Given the description of an element on the screen output the (x, y) to click on. 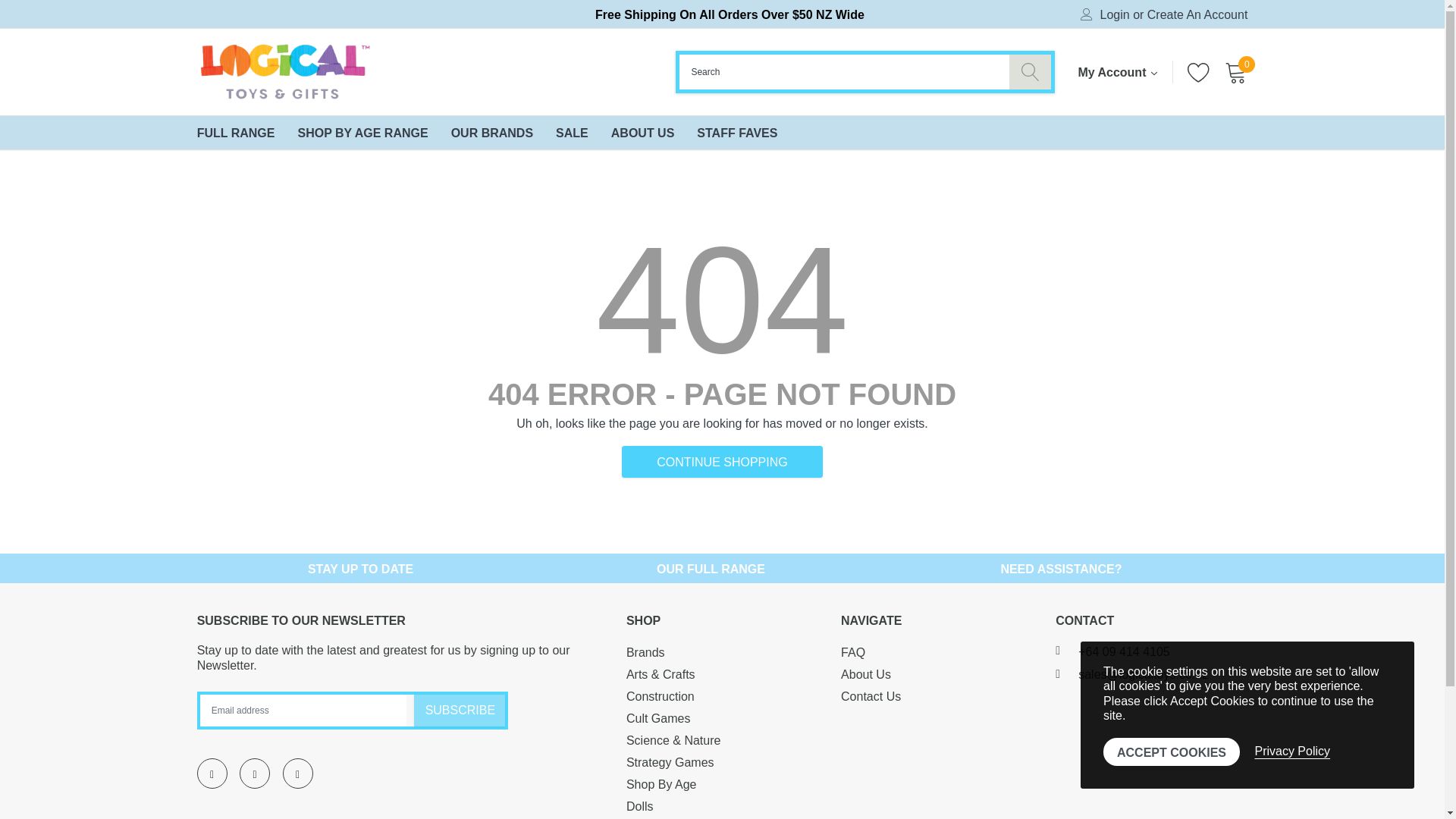
Twitter (254, 773)
Subscribe (459, 710)
Create An Account (1197, 15)
Instagram (297, 773)
search (1030, 71)
Facebook (211, 773)
Login (1114, 15)
